Given the description of an element on the screen output the (x, y) to click on. 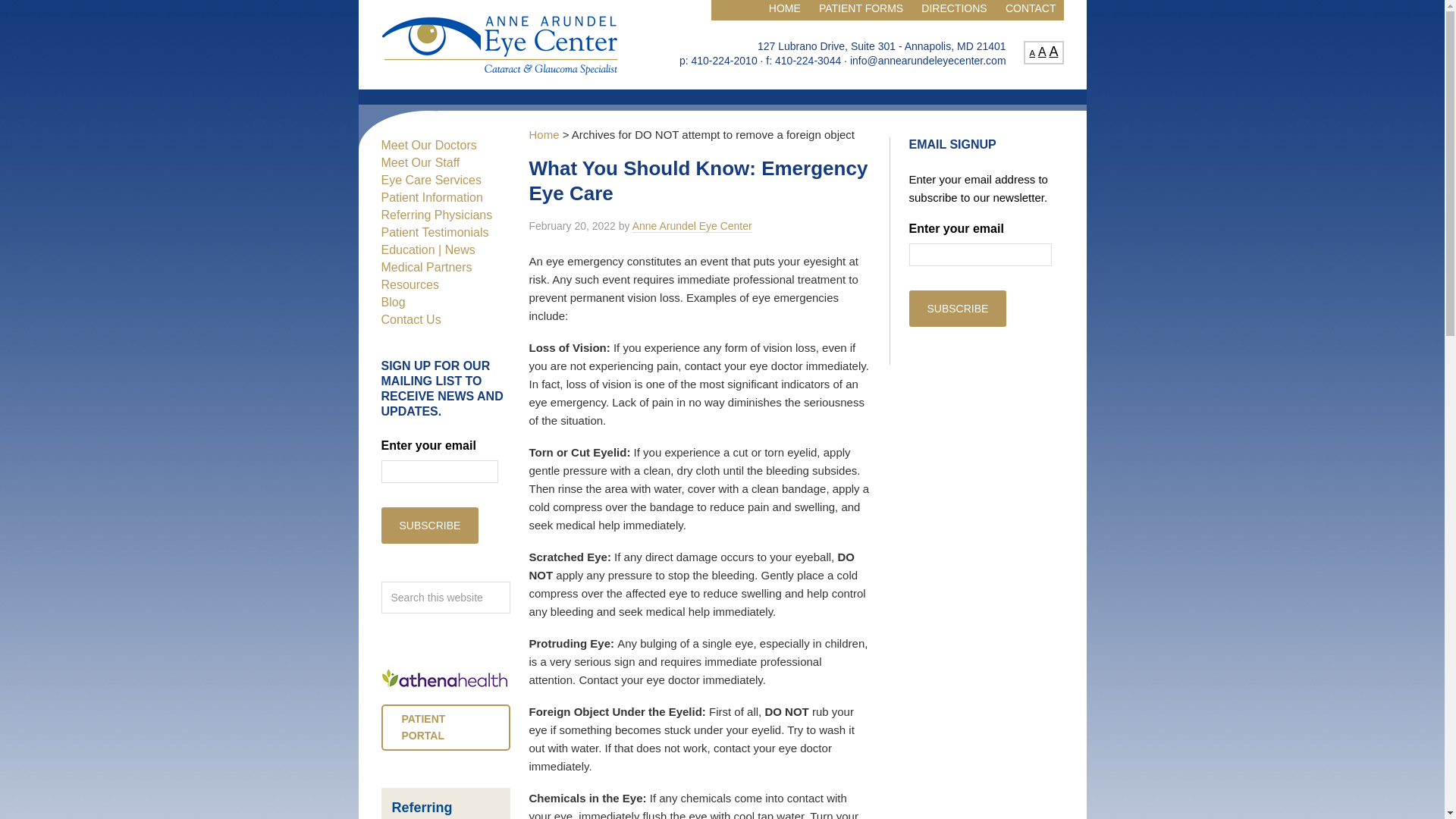
DIRECTIONS (954, 10)
CONTACT (1030, 10)
Subscribe (957, 308)
HOME (784, 10)
Subscribe (429, 524)
PATIENT FORMS (860, 10)
What You Should Know: Emergency Eye Care (698, 180)
ANNE ARUNDEL EYE CENTER (498, 44)
Anne Arundel Eye Center (691, 226)
